Given the description of an element on the screen output the (x, y) to click on. 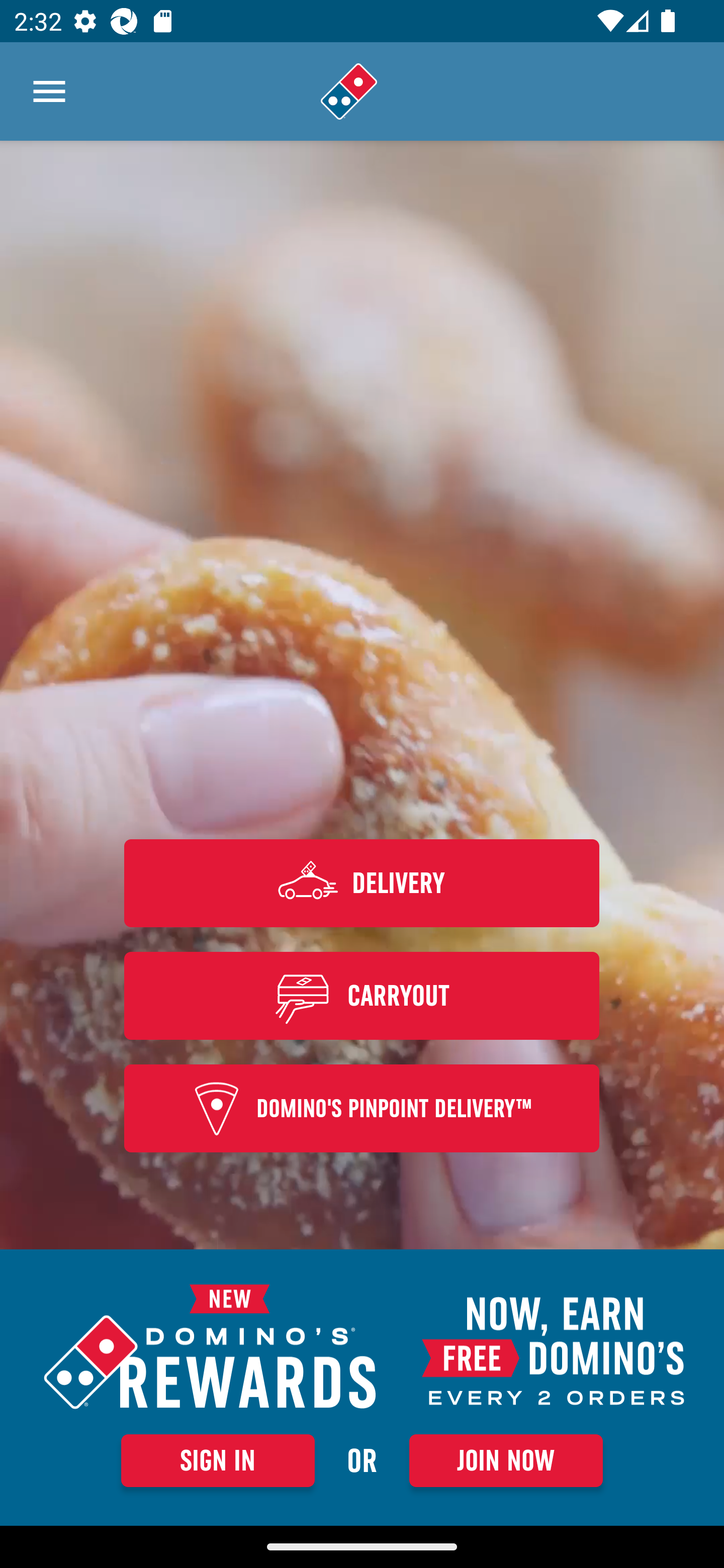
Expand Menu (49, 91)
DELIVERY (361, 882)
CARRYOUT (361, 995)
DOMINO'S PINPOINT DELIVERY™ (361, 1108)
SIGN IN (217, 1460)
JOIN NOW (506, 1460)
